Given the description of an element on the screen output the (x, y) to click on. 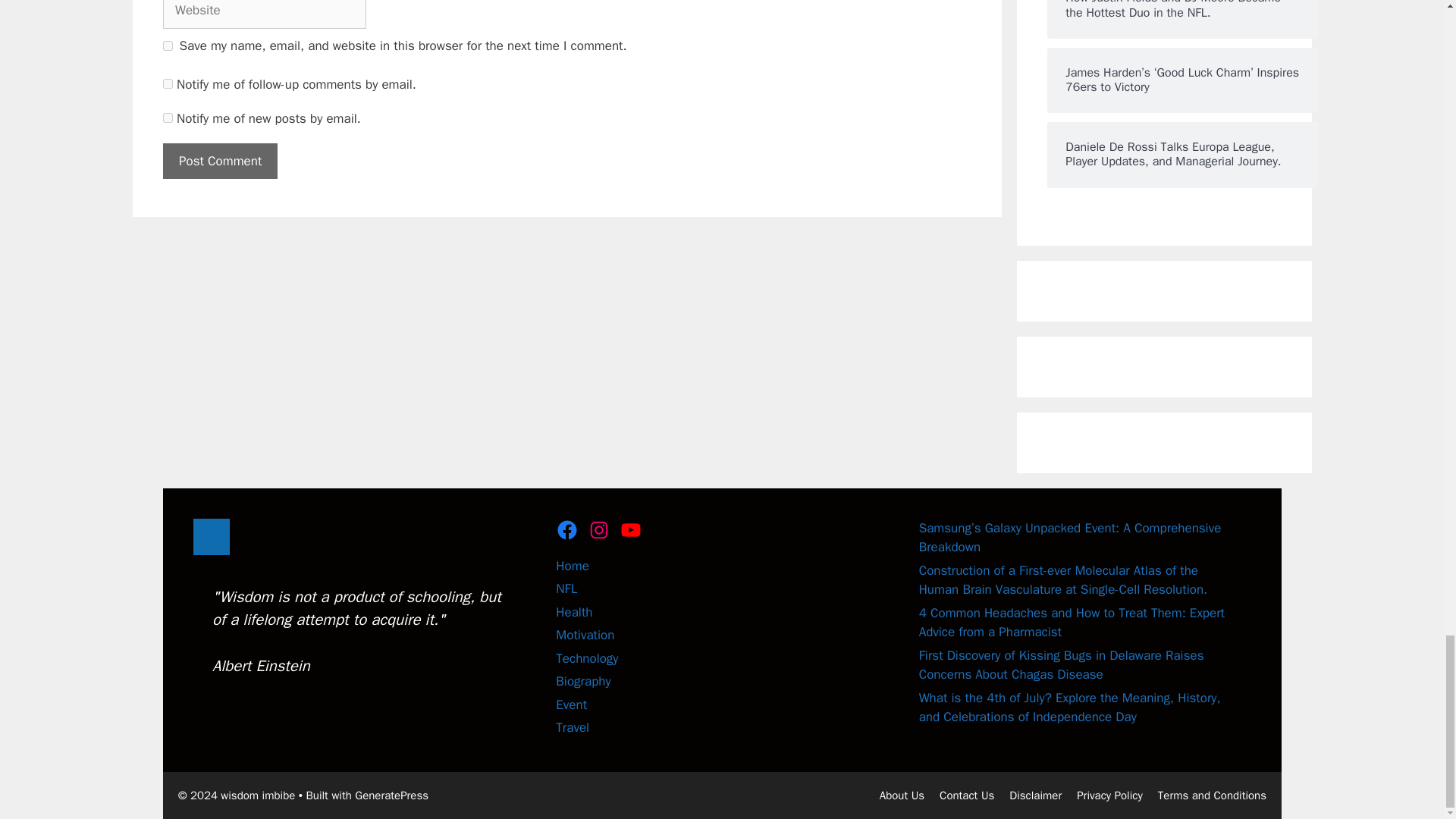
subscribe (168, 117)
Post Comment (220, 161)
yes (168, 45)
subscribe (168, 83)
